Given the description of an element on the screen output the (x, y) to click on. 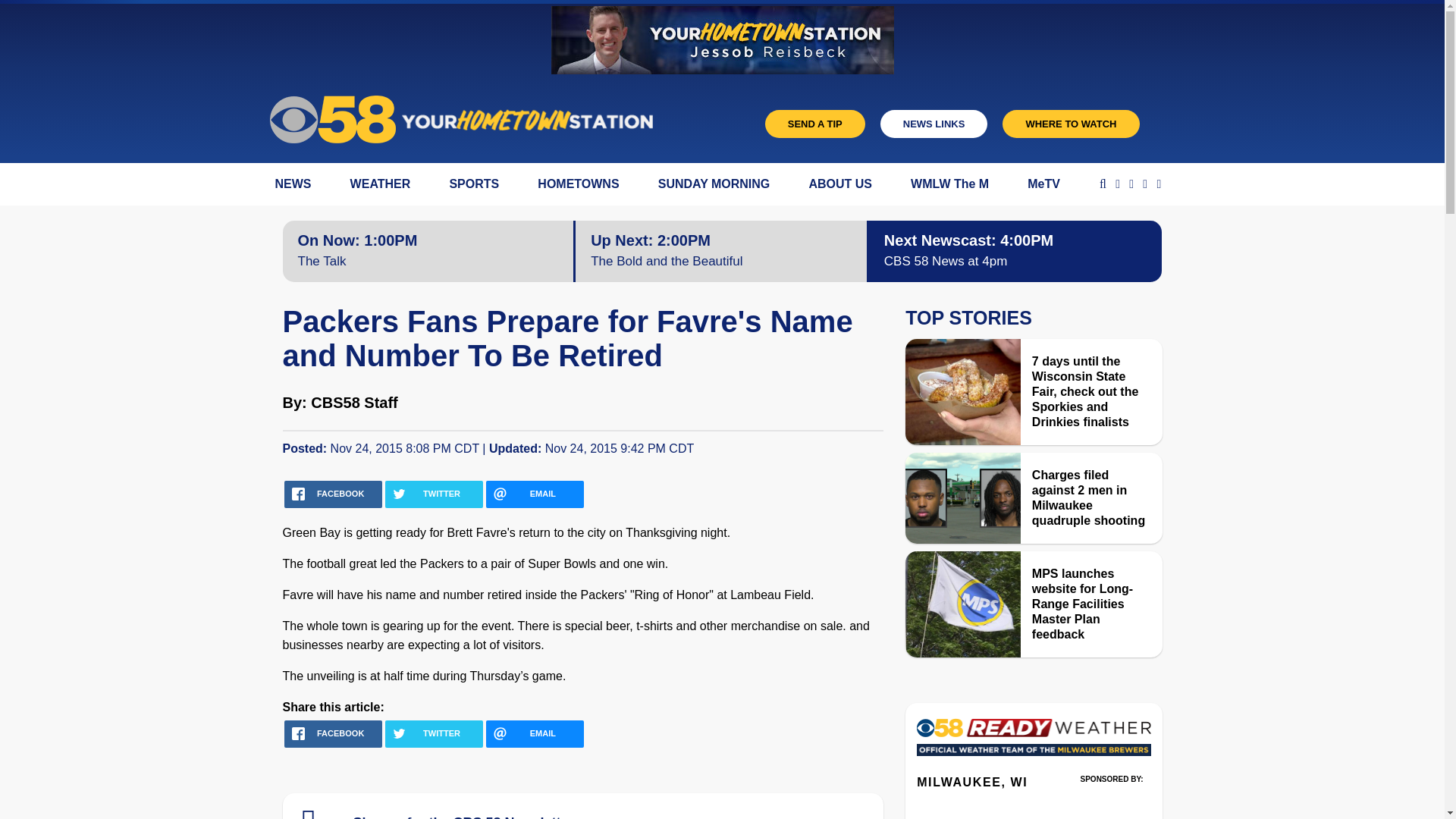
Weather (1033, 742)
3rd party ad content (1112, 800)
